Given the description of an element on the screen output the (x, y) to click on. 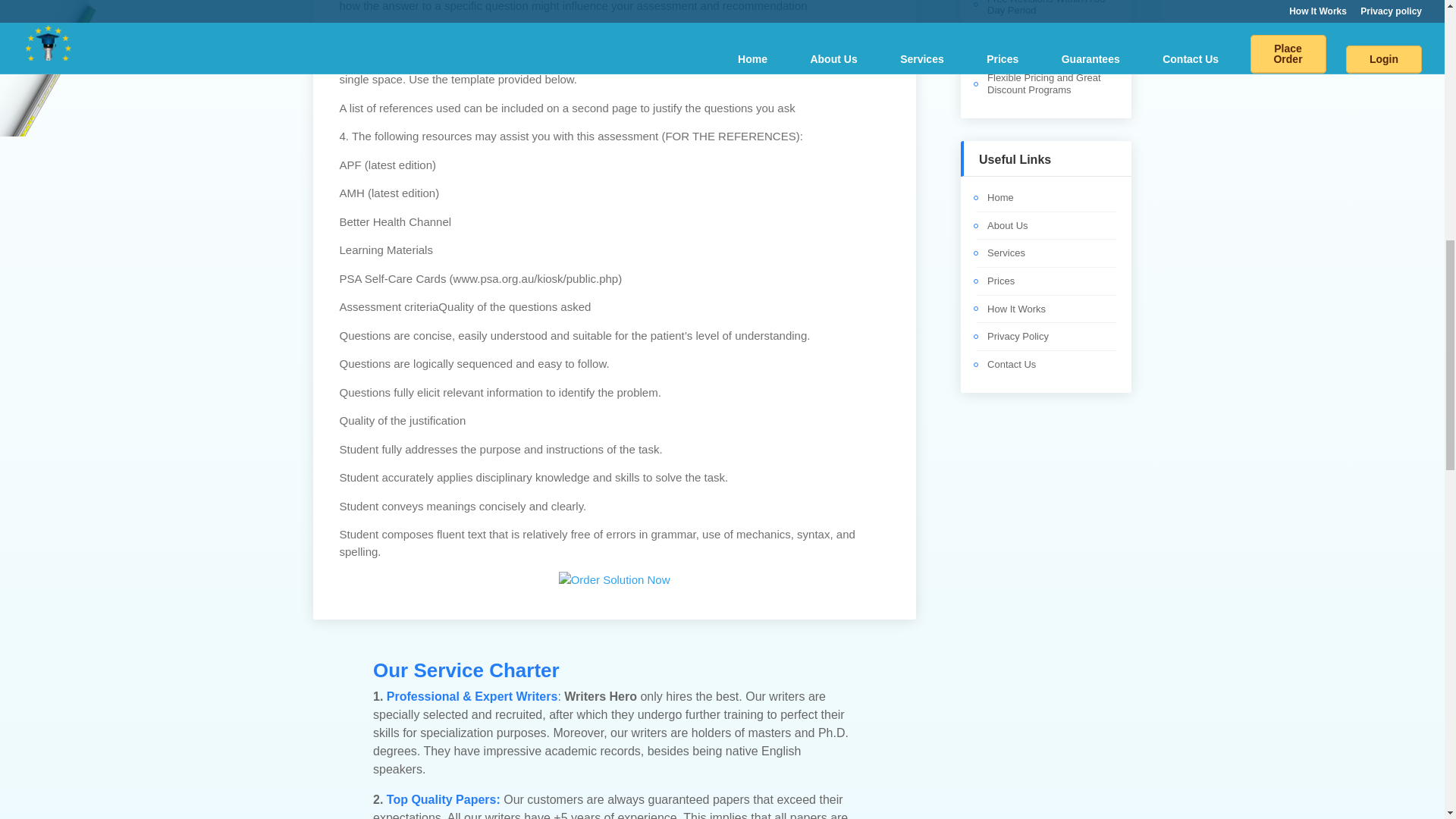
Services (1006, 252)
Prices (1000, 280)
Contact Us (1011, 364)
About Us (1007, 225)
Home (1000, 197)
Privacy Policy (1017, 336)
How It Works (1016, 308)
